Given the description of an element on the screen output the (x, y) to click on. 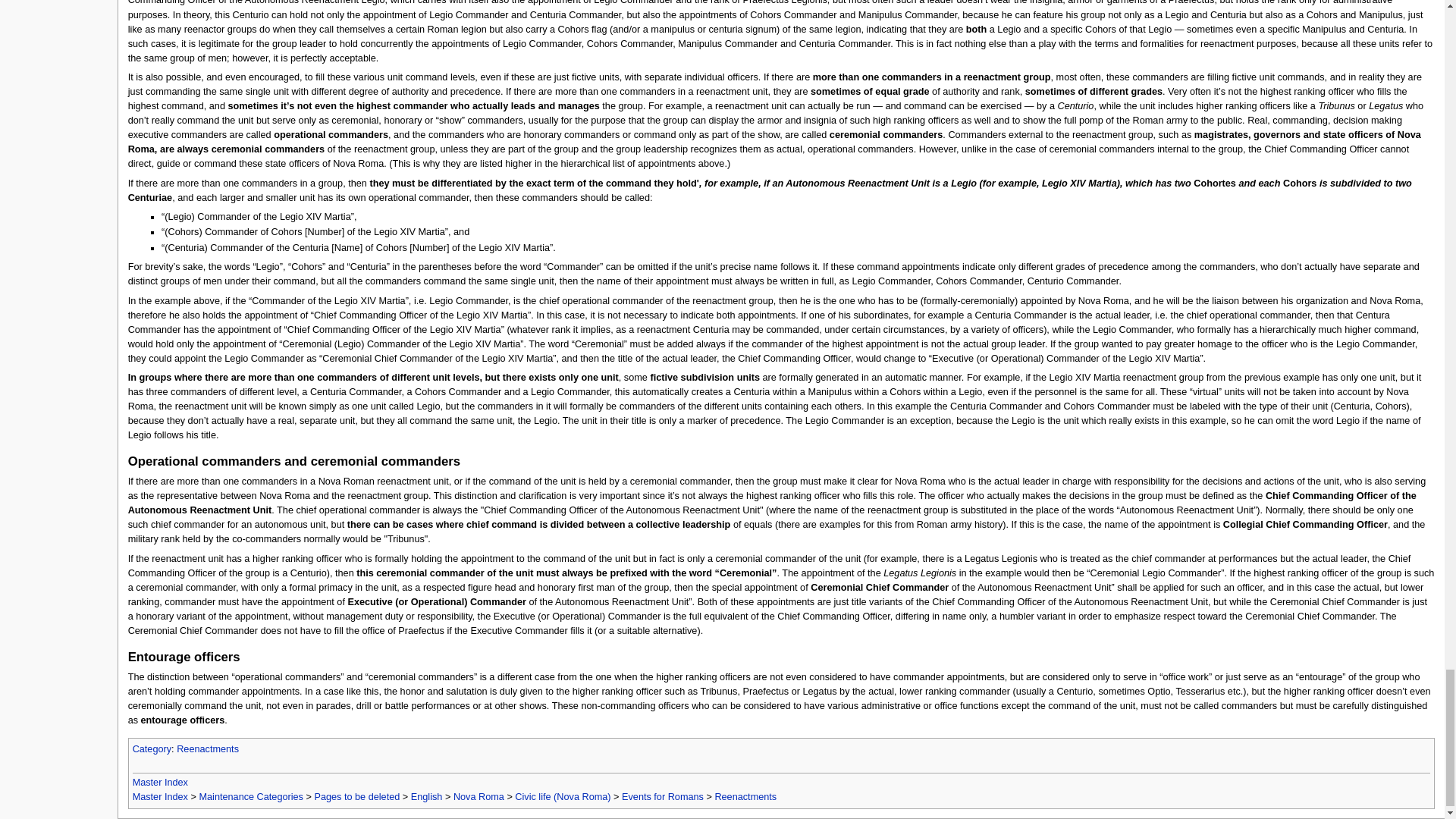
Category:Maintenance Categories (250, 796)
Events for Romans (662, 796)
Pages to be deleted (356, 796)
Master Index (159, 782)
Category (151, 748)
Reenactments (207, 748)
Category:Events for Romans (662, 796)
Nova Roma (477, 796)
Category:Reenactments (745, 796)
Category:English (426, 796)
Category:Master Index (159, 796)
Maintenance Categories (250, 796)
Category:Pages to be deleted (356, 796)
Category:Reenactments (207, 748)
English (426, 796)
